Given the description of an element on the screen output the (x, y) to click on. 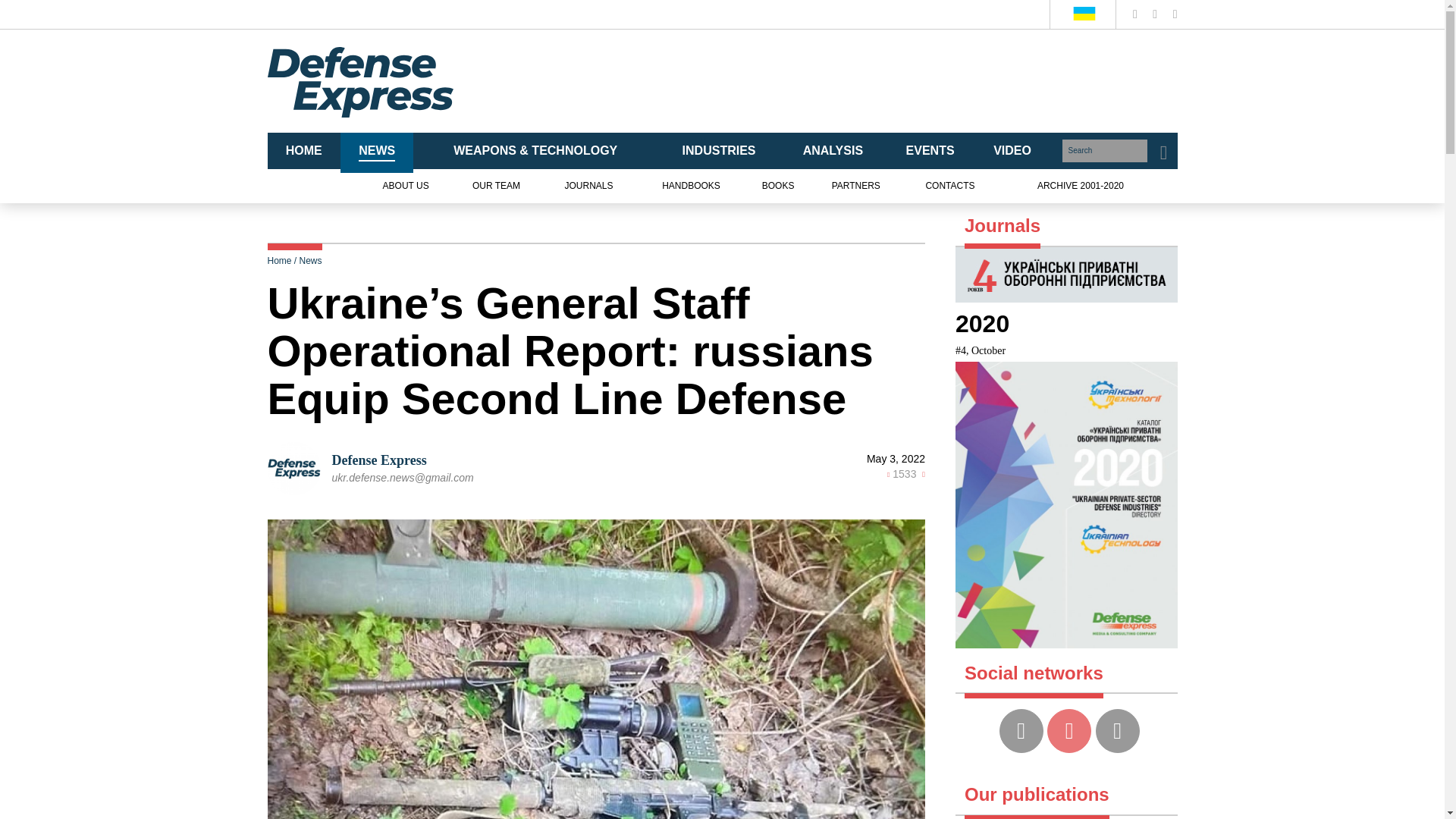
CONTACTS (949, 186)
OUR TEAM (495, 186)
HANDBOOKS (691, 186)
INDUSTRIES (719, 152)
EVENTS (930, 152)
JOURNALS (588, 186)
VIDEO (1012, 152)
PARTNERS (855, 186)
ARCHIVE 2001-2020 (1080, 186)
ANALYSIS (832, 152)
NEWS (376, 152)
Home (278, 260)
HOME (302, 152)
BOOKS (777, 186)
ABOUT US (405, 186)
